Given the description of an element on the screen output the (x, y) to click on. 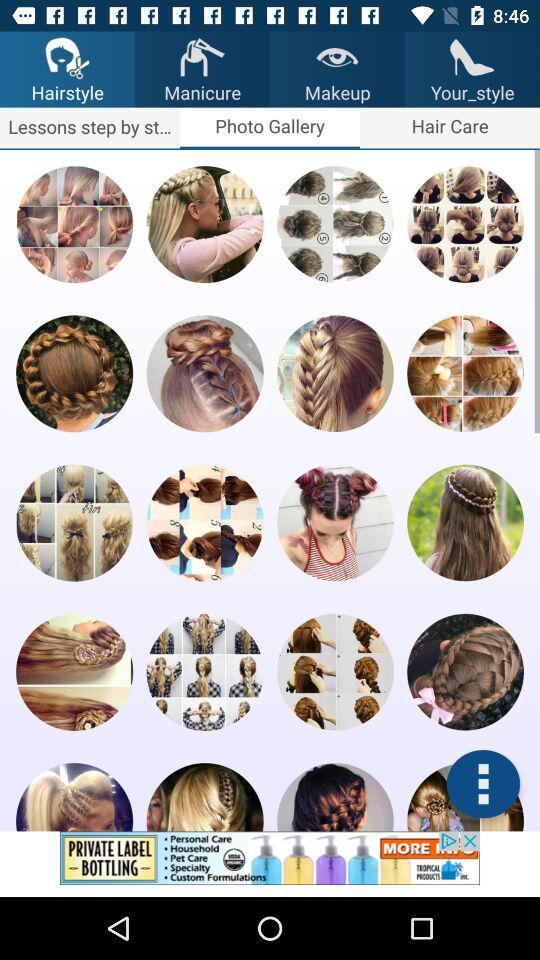
open photo gallery (74, 224)
